Given the description of an element on the screen output the (x, y) to click on. 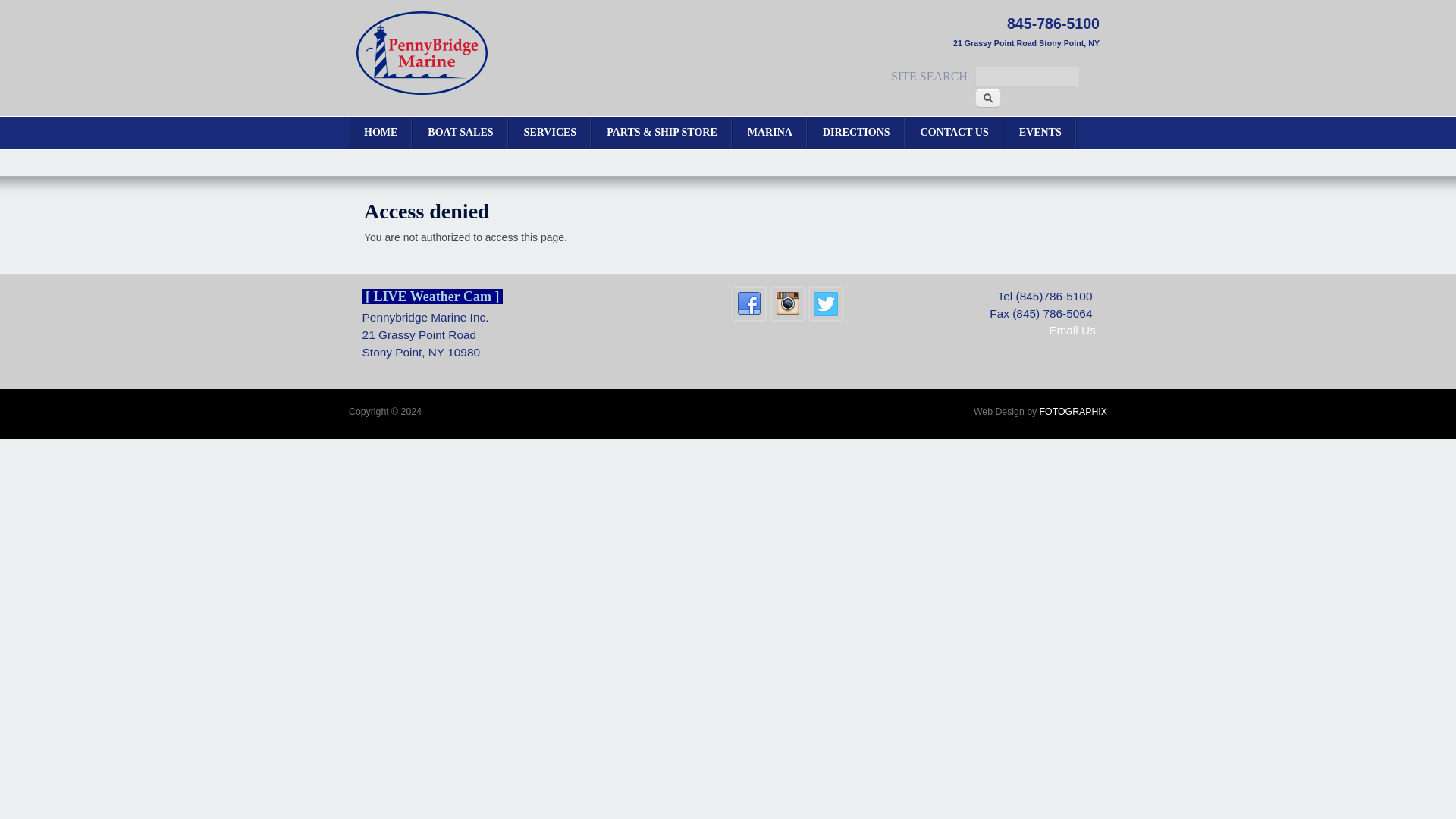
Directions (856, 133)
Welcome to PennyBridge Marine Inc. (380, 133)
BOAT SALES (460, 133)
CONTACT US (954, 133)
MARINA (770, 133)
Marina (770, 133)
Enter the terms you wish to search for. (1027, 76)
HOME (380, 133)
EVENTS (1040, 133)
Search (988, 97)
Search (988, 97)
Home (421, 91)
DIRECTIONS (856, 133)
Services (550, 133)
